Given the description of an element on the screen output the (x, y) to click on. 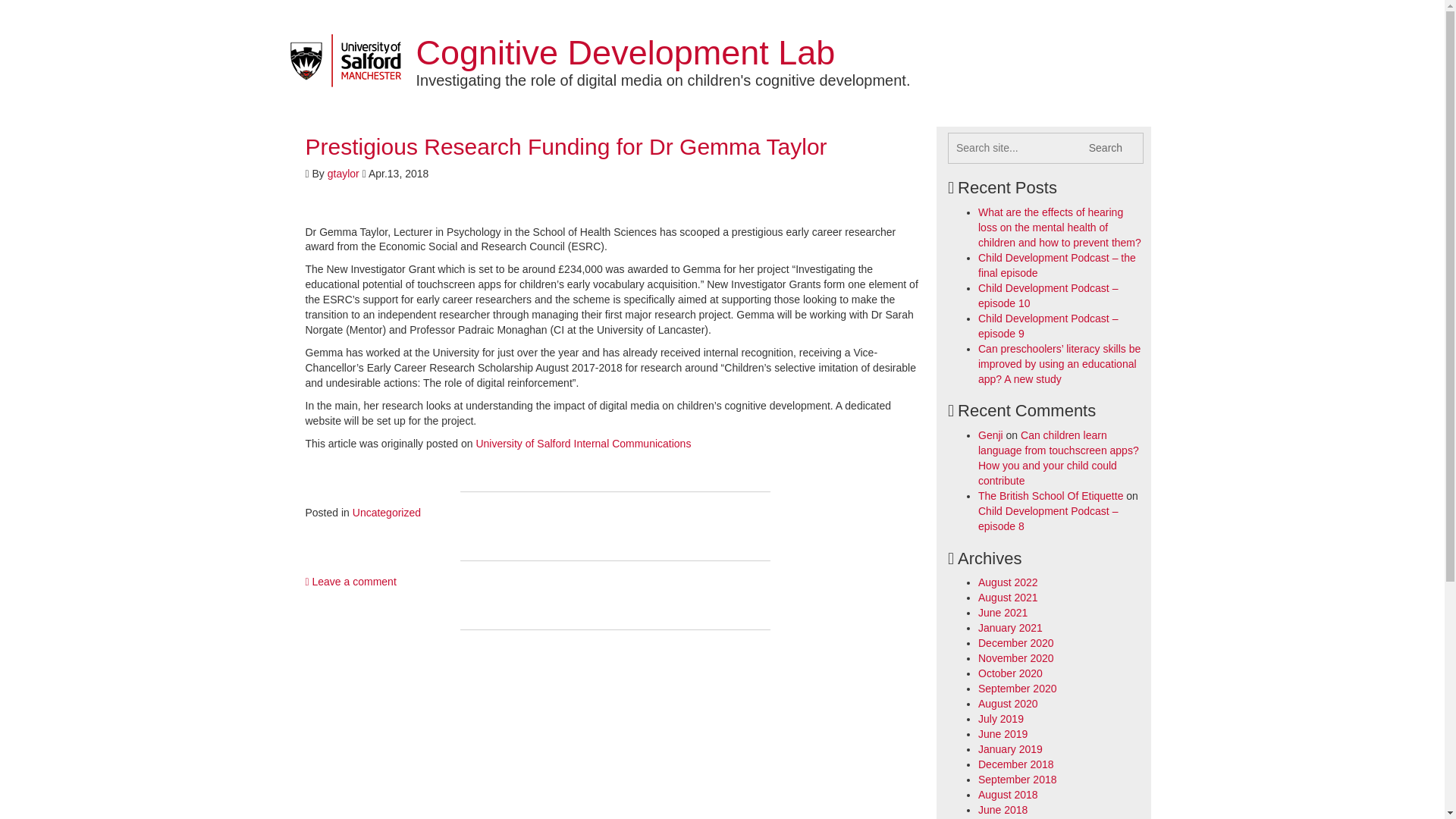
University of Salford Internal Communications (583, 443)
Cognitive Development Lab (624, 52)
Search (1105, 148)
January 2019 (1010, 748)
January 2021 (1010, 627)
The British School Of Etiquette (1050, 495)
November 2020 (1016, 657)
December 2020 (1016, 643)
September 2018 (1017, 779)
